Given the description of an element on the screen output the (x, y) to click on. 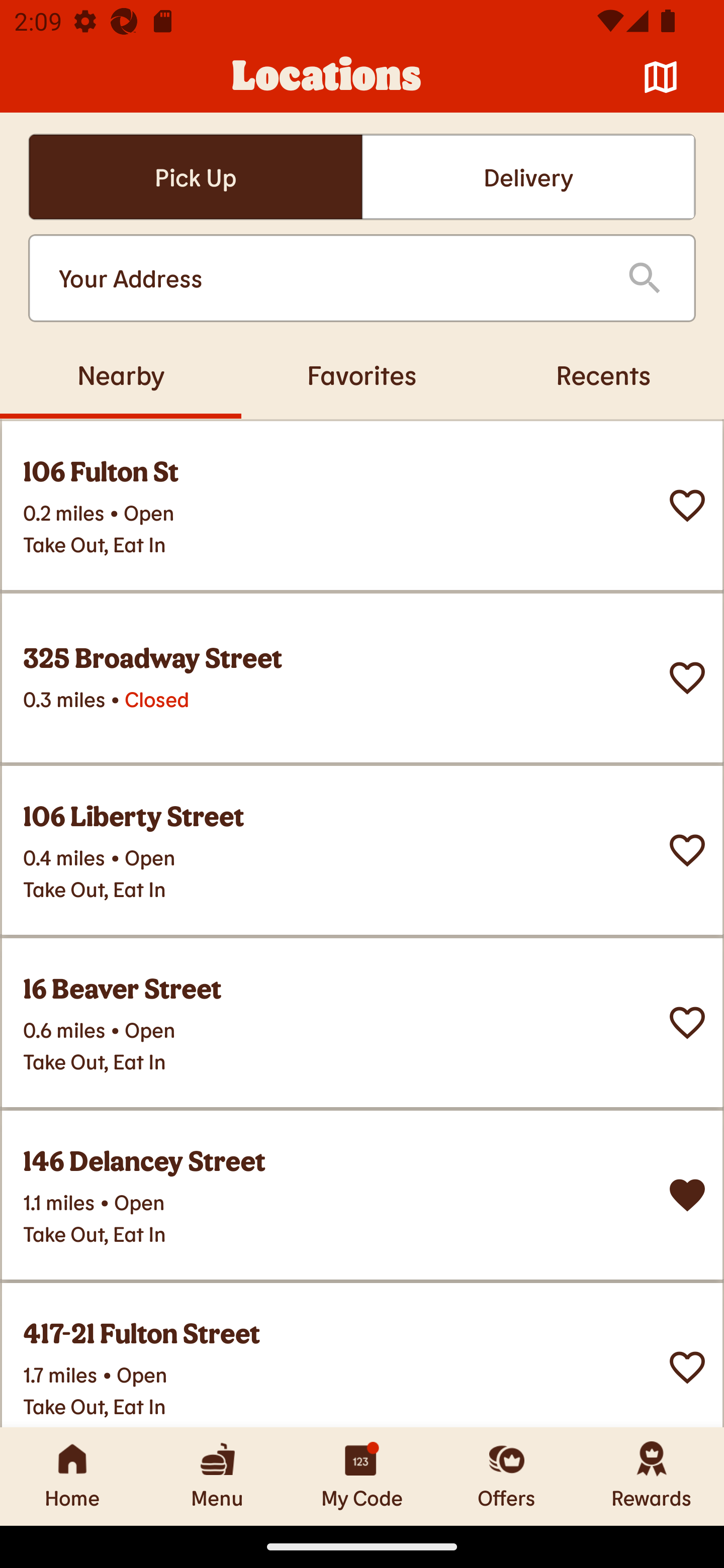
Map 󰦂 (660, 77)
Locations (326, 77)
Pick UpSelected Pick UpSelected Pick Up (195, 176)
Delivery Delivery Delivery (528, 176)
Your Address (327, 277)
Nearby (120, 374)
Favorites (361, 374)
Recents (603, 374)
Set this restaurant as a favorite  (687, 505)
Set this restaurant as a favorite  (687, 677)
Set this restaurant as a favorite  (687, 850)
Set this restaurant as a favorite  (687, 1022)
Remove from Favorites?  (687, 1195)
Set this restaurant as a favorite  (687, 1367)
Home (72, 1475)
Menu (216, 1475)
My Code (361, 1475)
Offers (506, 1475)
Rewards (651, 1475)
